Given the description of an element on the screen output the (x, y) to click on. 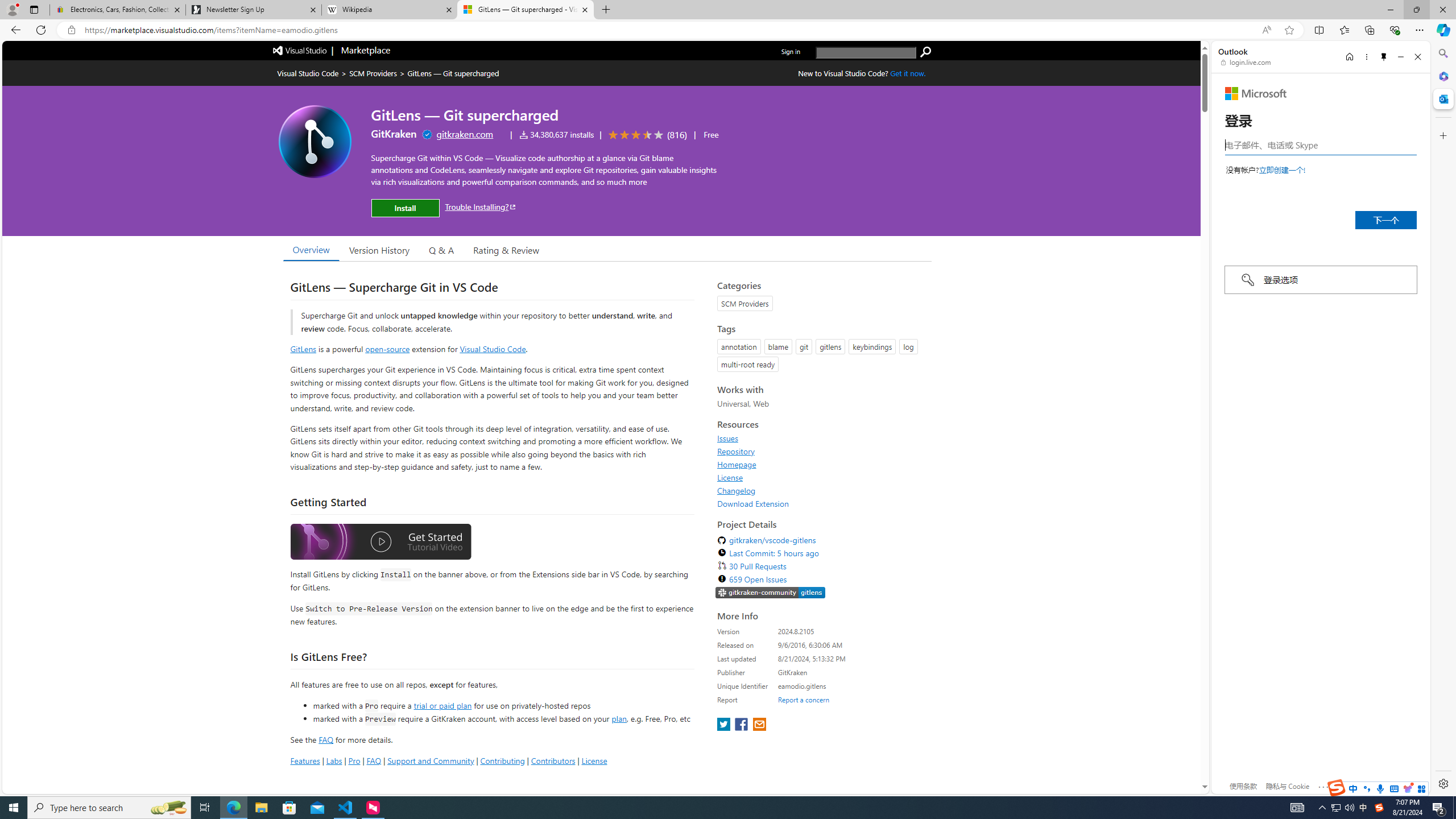
GitLens (303, 348)
Support and Community (430, 760)
Contributors (552, 760)
Version History (379, 249)
search (925, 52)
